Given the description of an element on the screen output the (x, y) to click on. 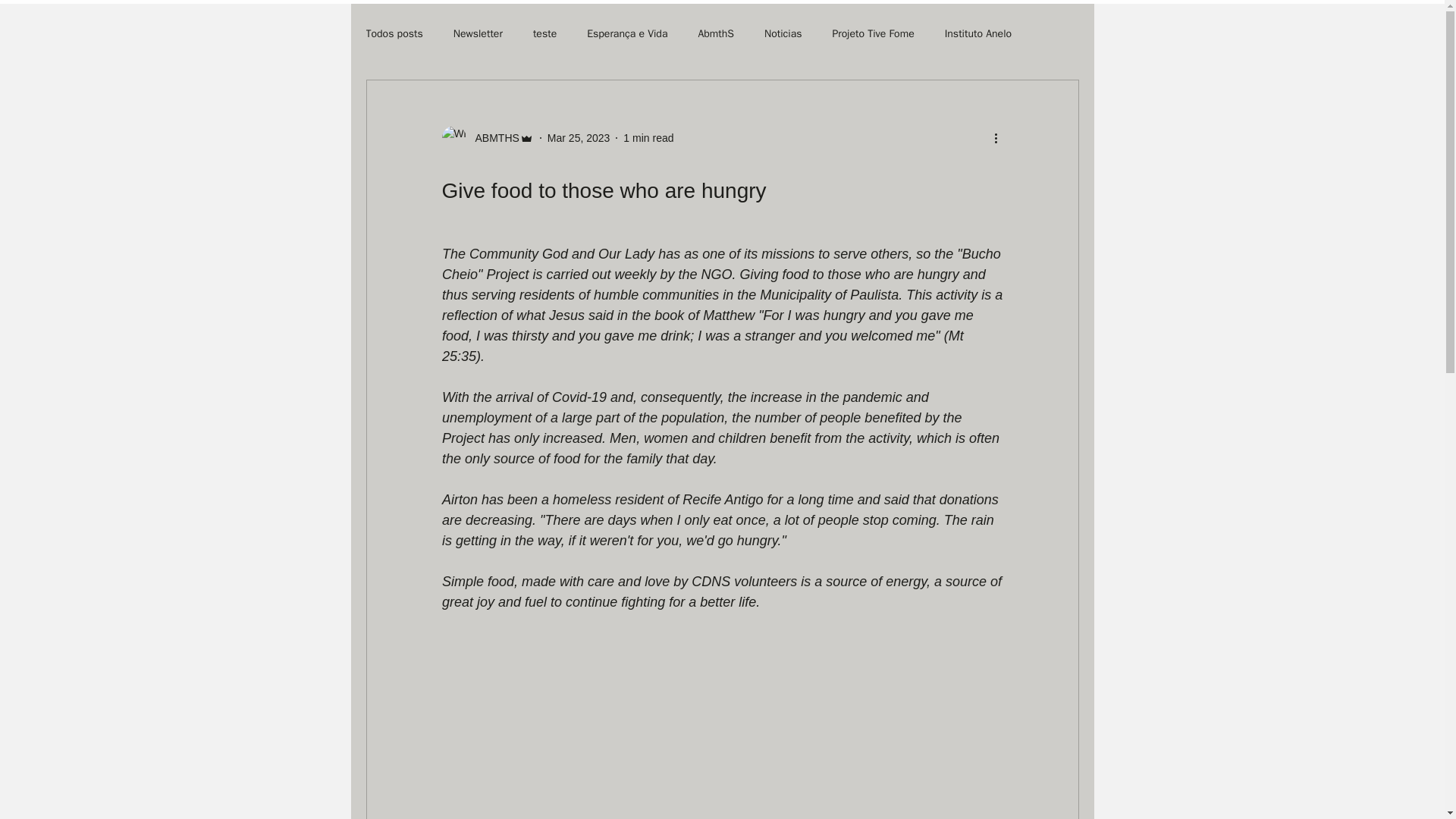
Todos posts (393, 33)
Instituto Anelo (977, 33)
Noticias (783, 33)
teste (544, 33)
Projeto Tive Fome (872, 33)
Mar 25, 2023 (578, 137)
ABMTHS (491, 138)
Newsletter (477, 33)
AbmthS (715, 33)
1 min read (647, 137)
ABMTHS (486, 137)
